Given the description of an element on the screen output the (x, y) to click on. 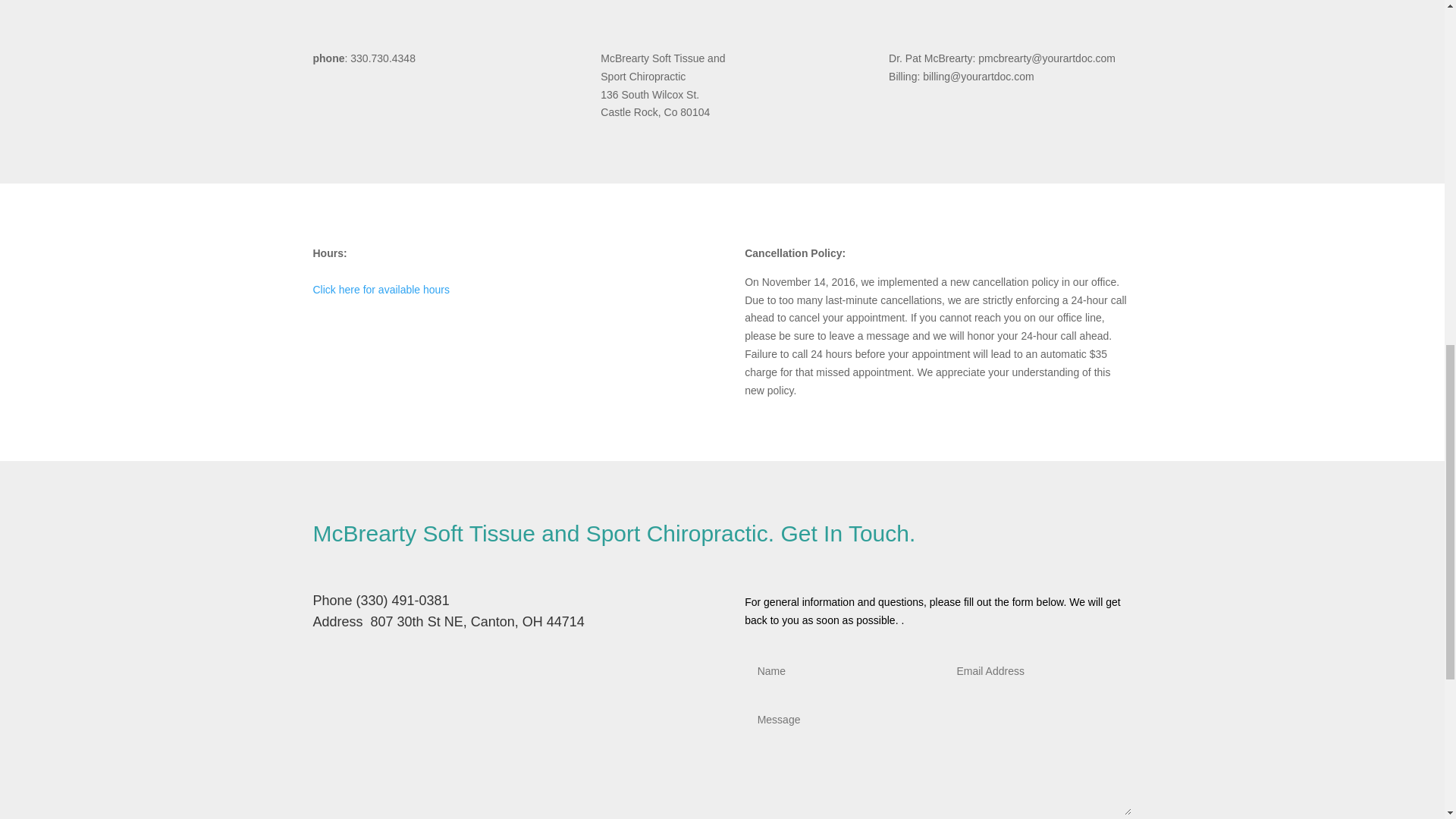
Click here for available hours (381, 289)
